Given the description of an element on the screen output the (x, y) to click on. 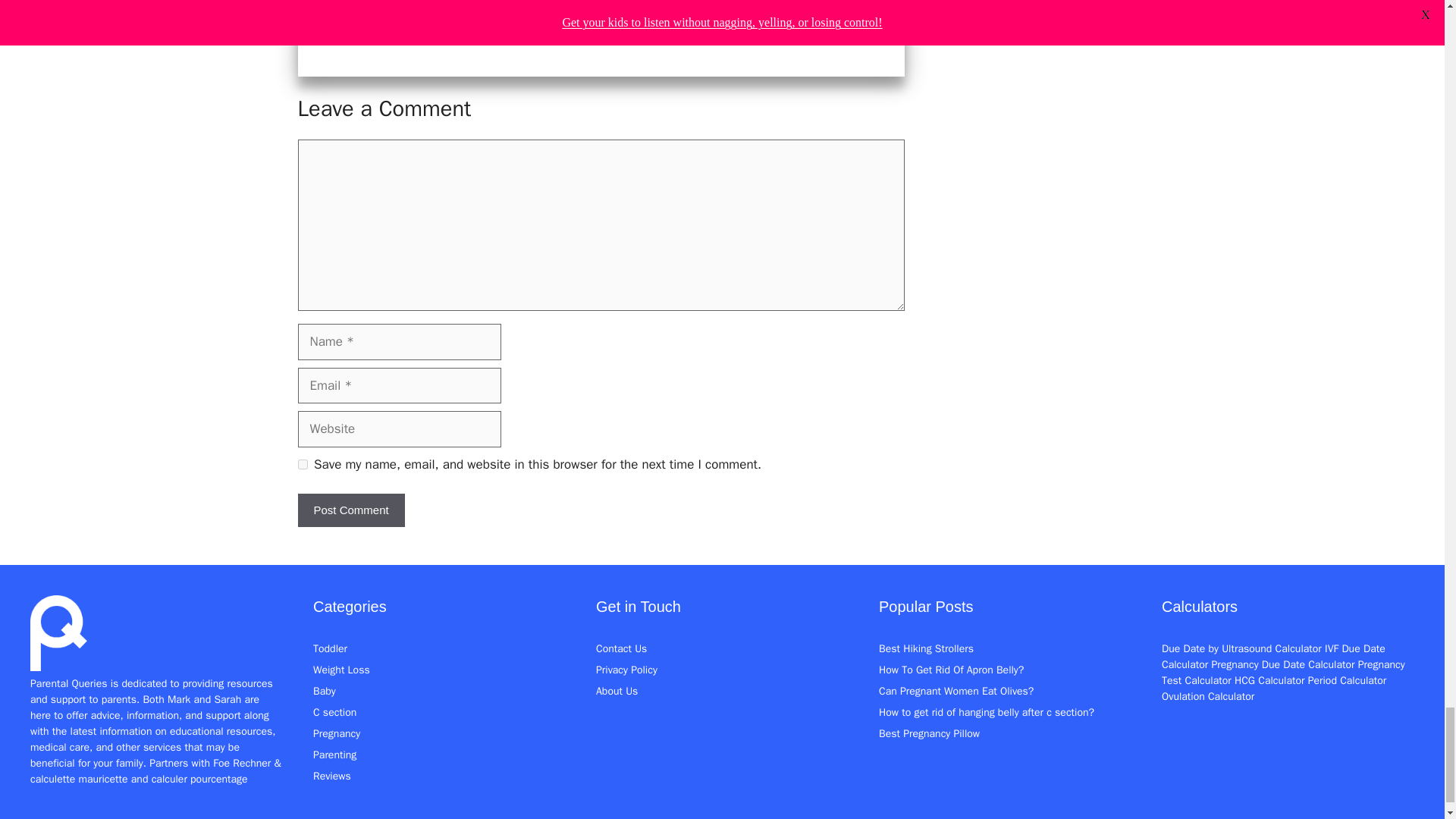
Post Comment (350, 510)
yes (302, 464)
